Given the description of an element on the screen output the (x, y) to click on. 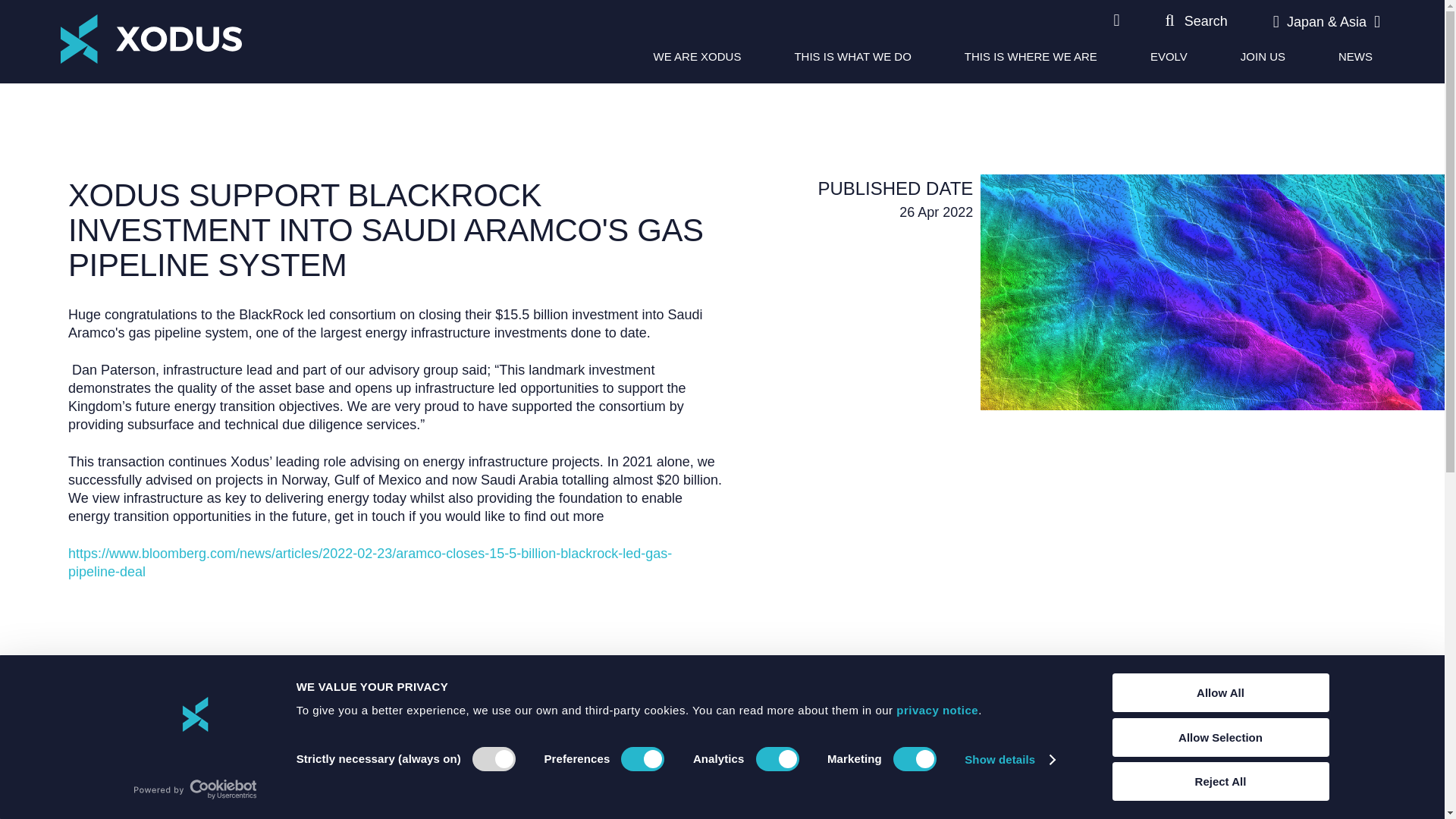
privacy notice (937, 709)
Allow Selection (1219, 736)
Reject All (1219, 781)
Show details (1008, 759)
privacy notice (937, 709)
